Given the description of an element on the screen output the (x, y) to click on. 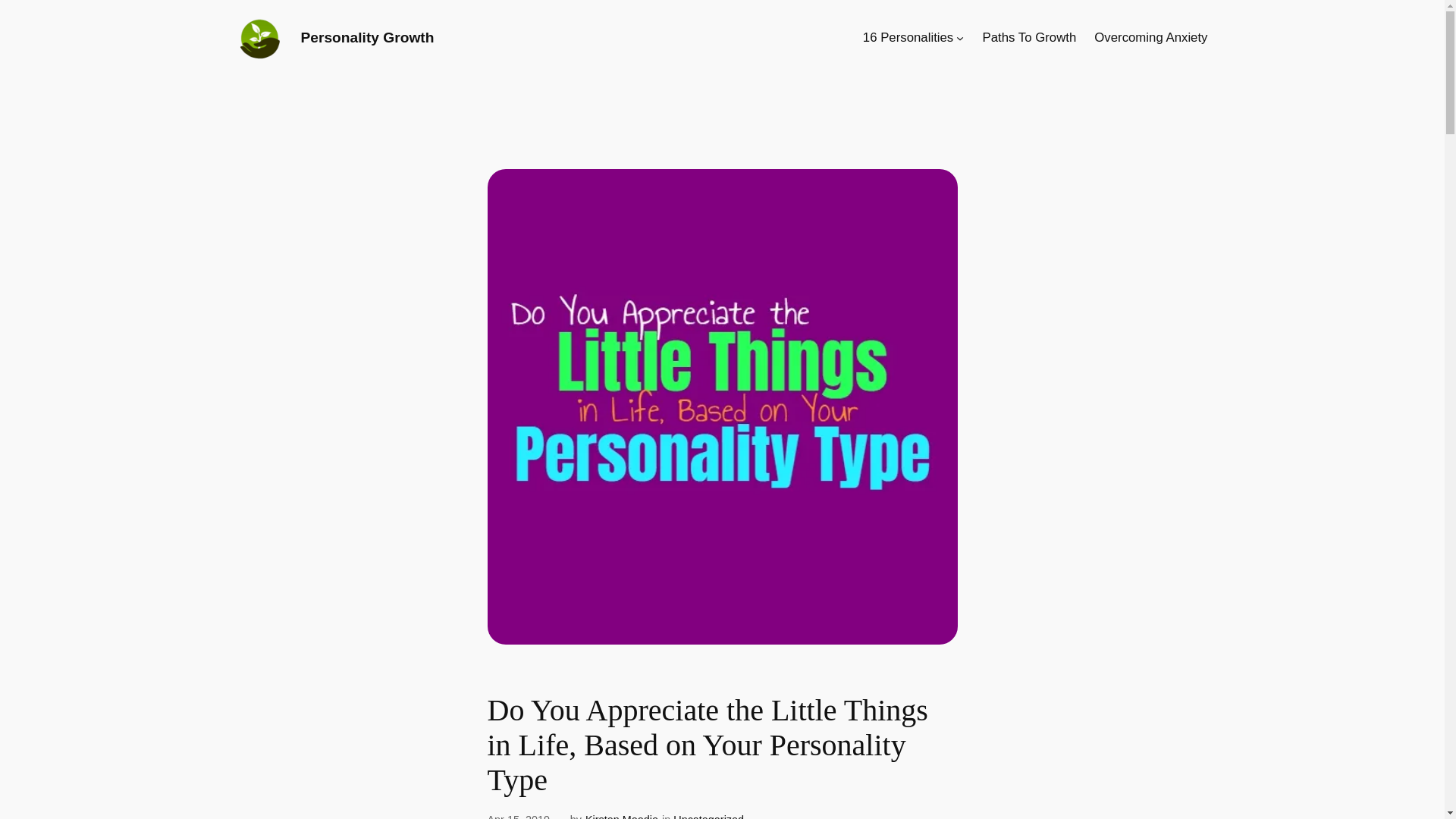
16 Personalities (908, 37)
Kirsten Moodie (621, 816)
Personality Growth (366, 37)
Uncategorized (708, 816)
Apr 15, 2019 (517, 816)
Paths To Growth (1029, 37)
Overcoming Anxiety (1150, 37)
